Given the description of an element on the screen output the (x, y) to click on. 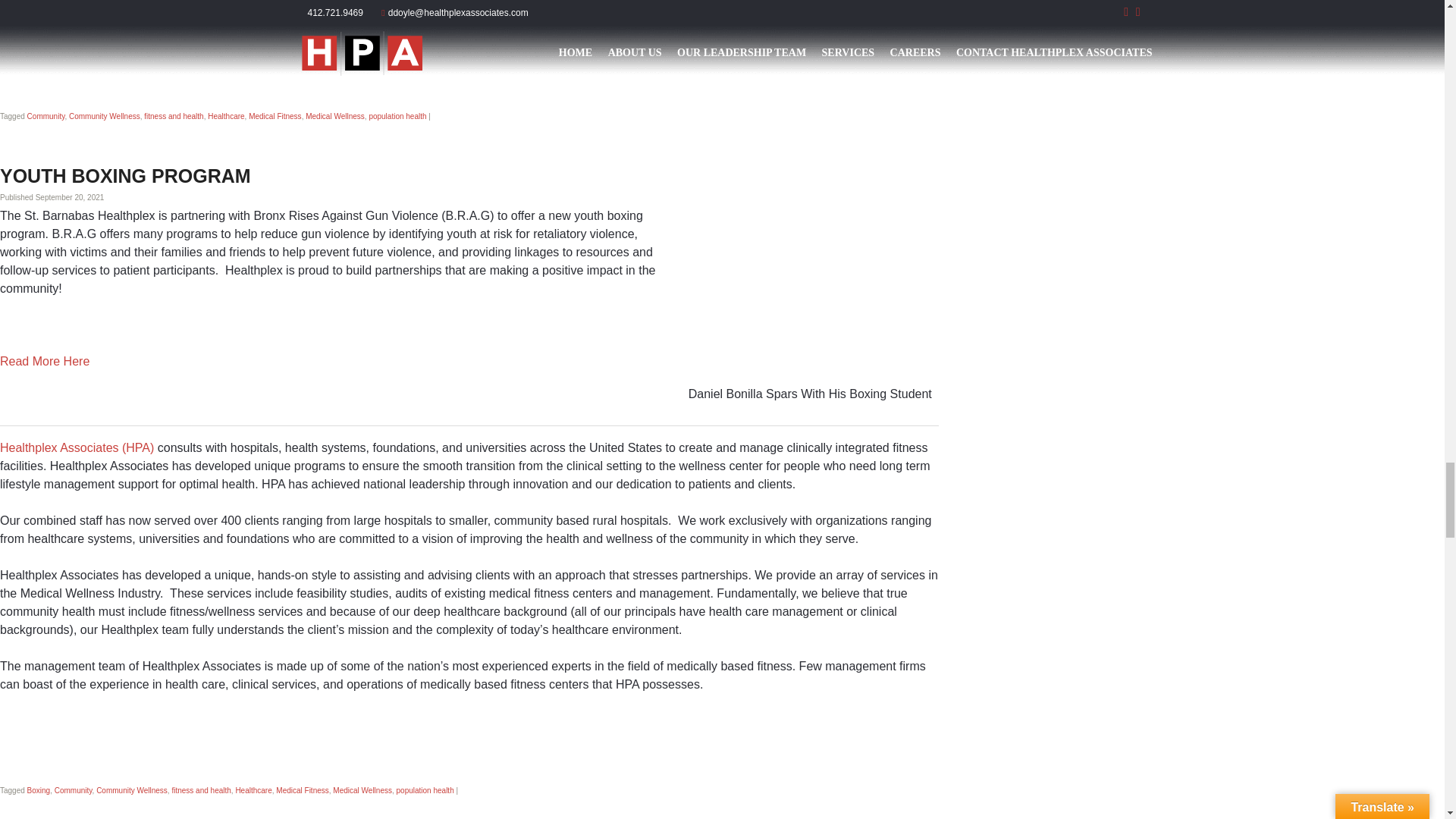
Permalink to Youth Boxing Program (125, 175)
